Given the description of an element on the screen output the (x, y) to click on. 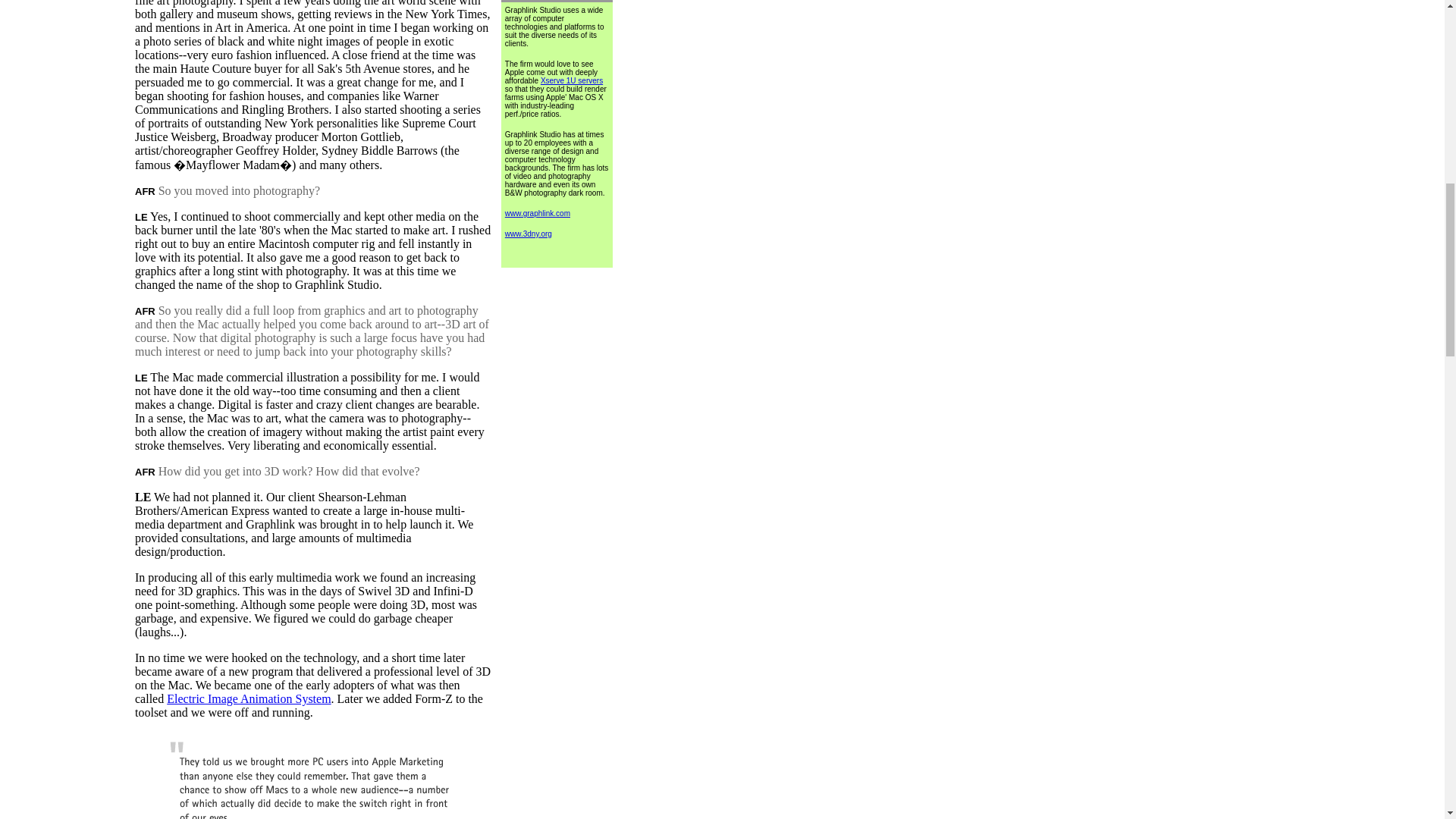
Electric Image Animation System (248, 698)
www.graphlink.com (537, 213)
www.3dny.org (528, 234)
Xserve 1U servers (571, 80)
